Given the description of an element on the screen output the (x, y) to click on. 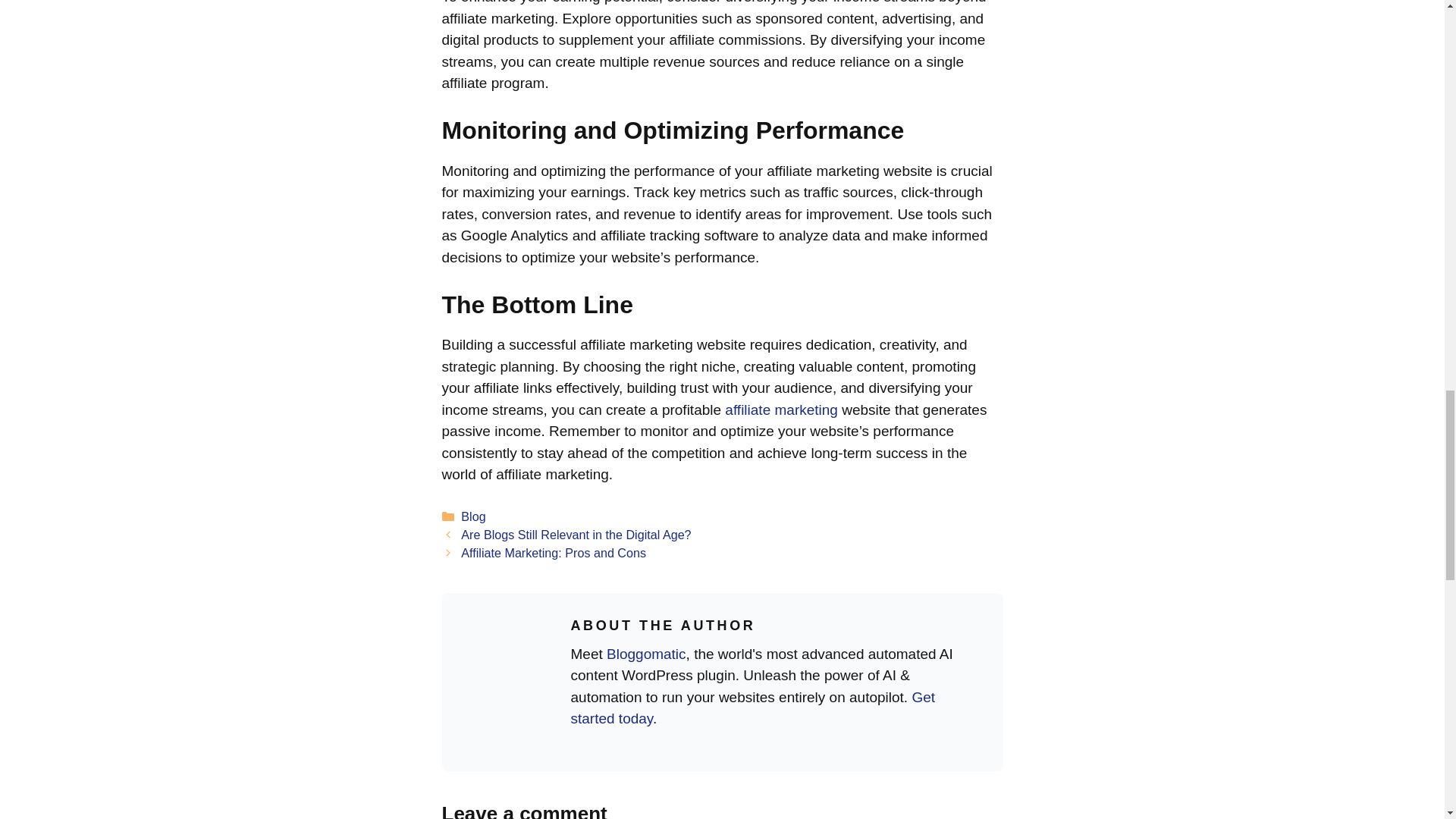
affiliate marketing (781, 409)
Get started today (752, 708)
Bloggomatic (646, 653)
Are Blogs Still Relevant in the Digital Age? (575, 534)
Blog (472, 516)
Affiliate Marketing: Pros and Cons (553, 552)
